Given the description of an element on the screen output the (x, y) to click on. 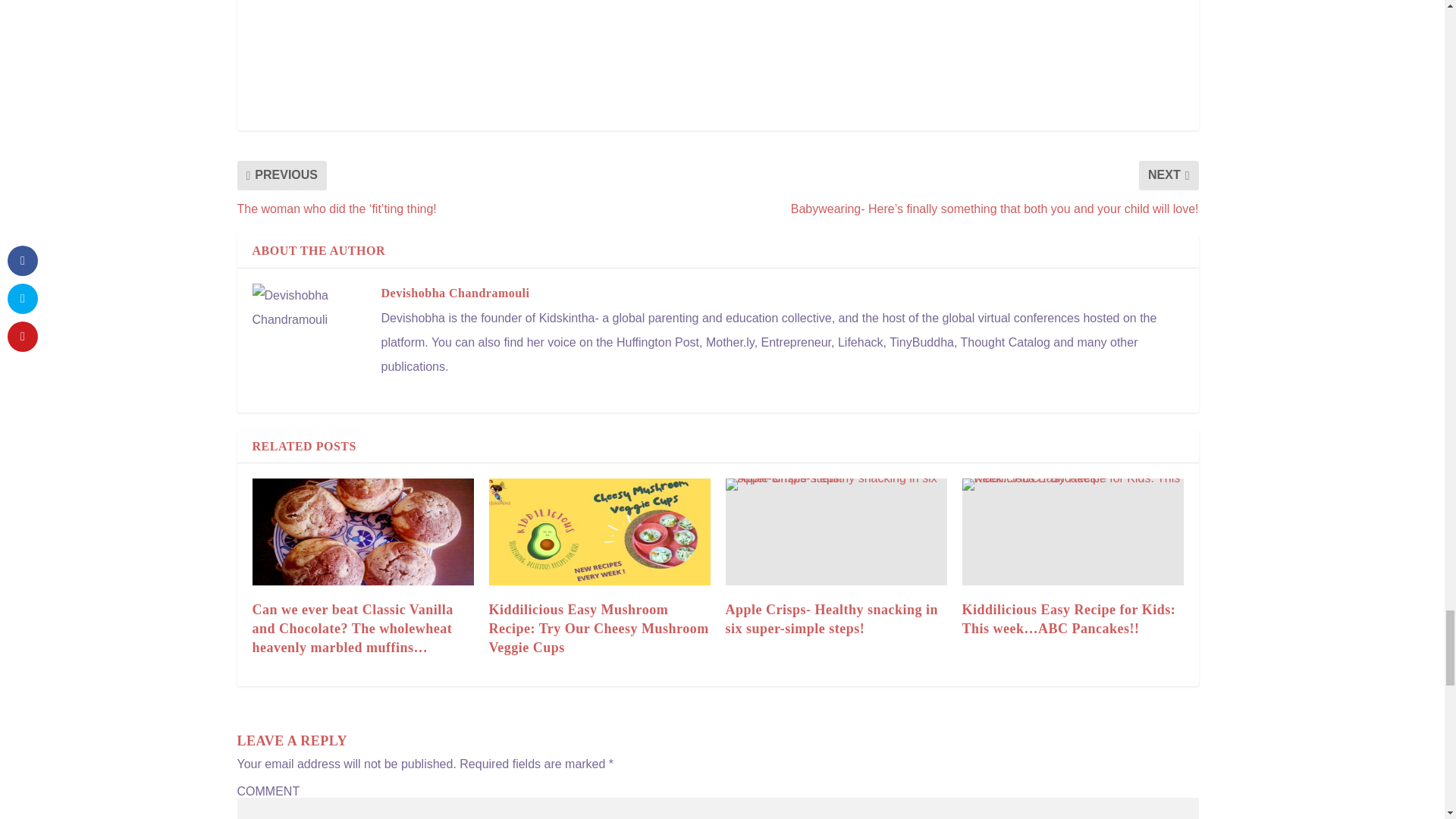
View all posts by Devishobha Chandramouli (454, 292)
Apple Crisps- Healthy snacking in six super-simple steps! (835, 531)
